Given the description of an element on the screen output the (x, y) to click on. 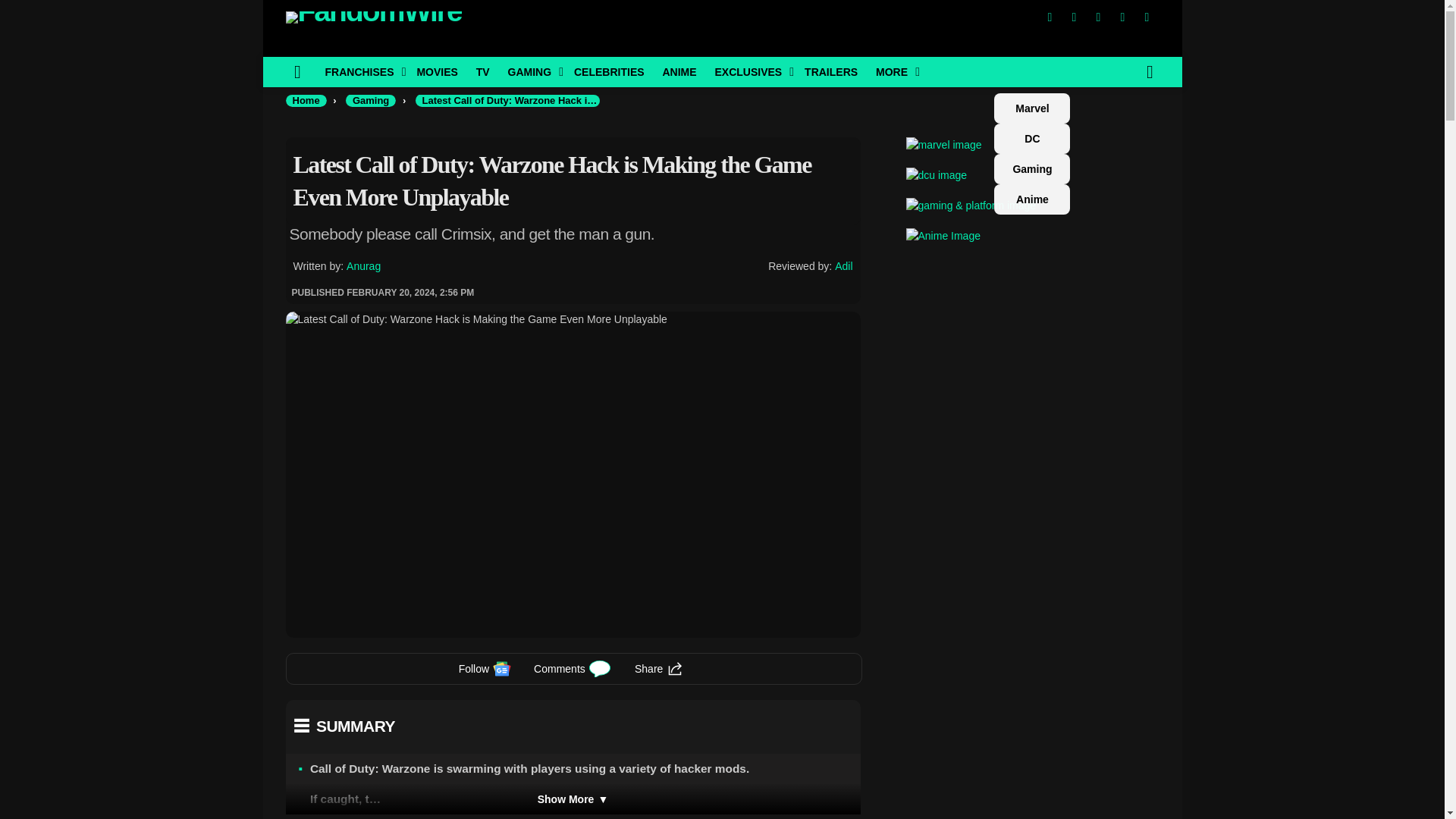
MOVIES (436, 71)
TRAILERS (830, 71)
MORE (893, 71)
FRANCHISES (361, 71)
Insta (1097, 17)
LinkedIn (1121, 17)
ANIME (678, 71)
TV (482, 71)
Twitter (1073, 17)
EXCLUSIVES (749, 71)
YT (1146, 17)
Menu (296, 71)
CELEBRITIES (609, 71)
GAMING (532, 71)
Facebook (1048, 17)
